Given the description of an element on the screen output the (x, y) to click on. 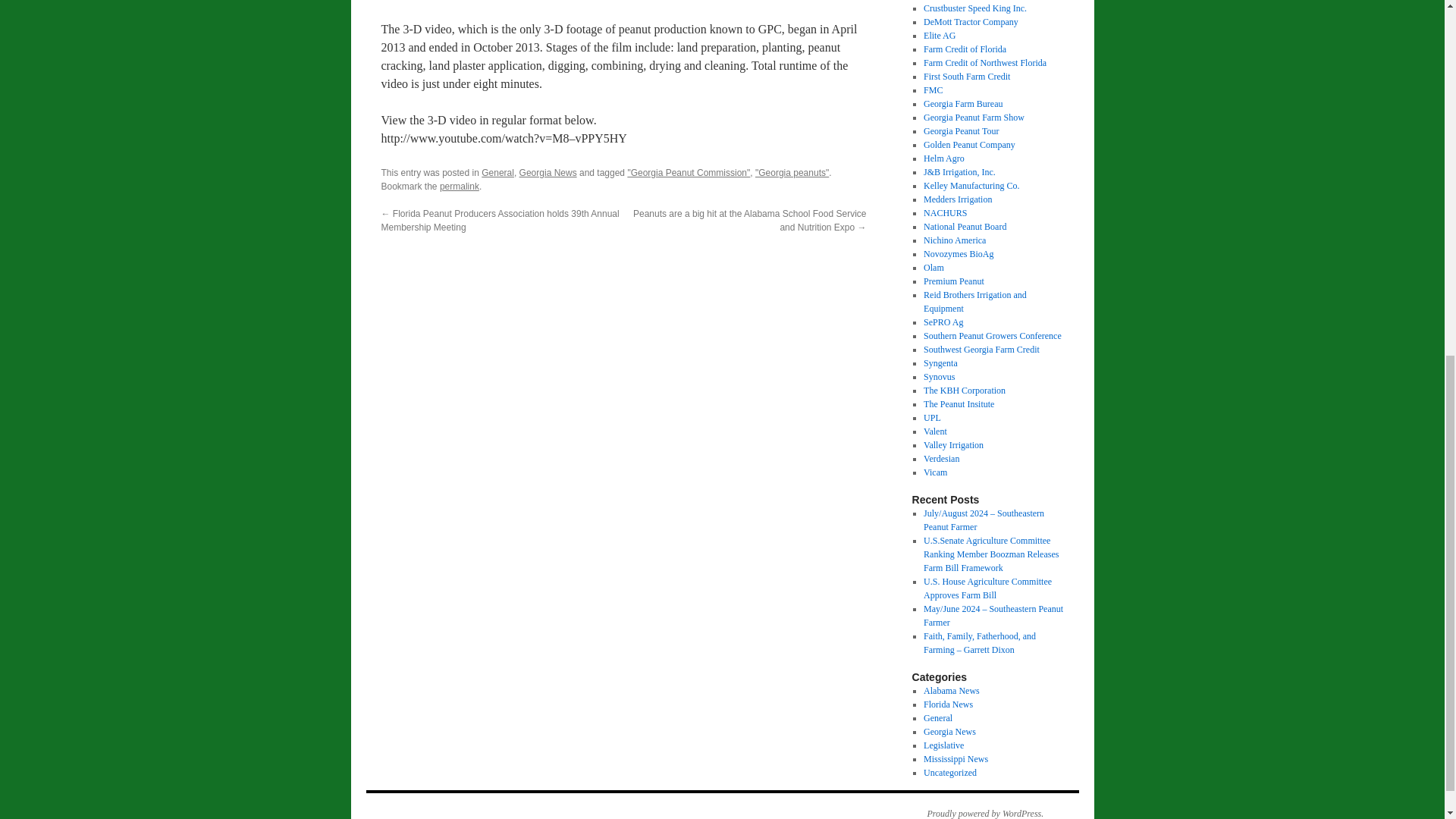
"Georgia Peanut Commission" (688, 172)
Elite AG (939, 35)
permalink (459, 185)
General (497, 172)
DeMott Tractor Company (970, 21)
Georgia News (547, 172)
Crustbuster Speed King Inc. (974, 8)
"Georgia peanuts" (791, 172)
